Given the description of an element on the screen output the (x, y) to click on. 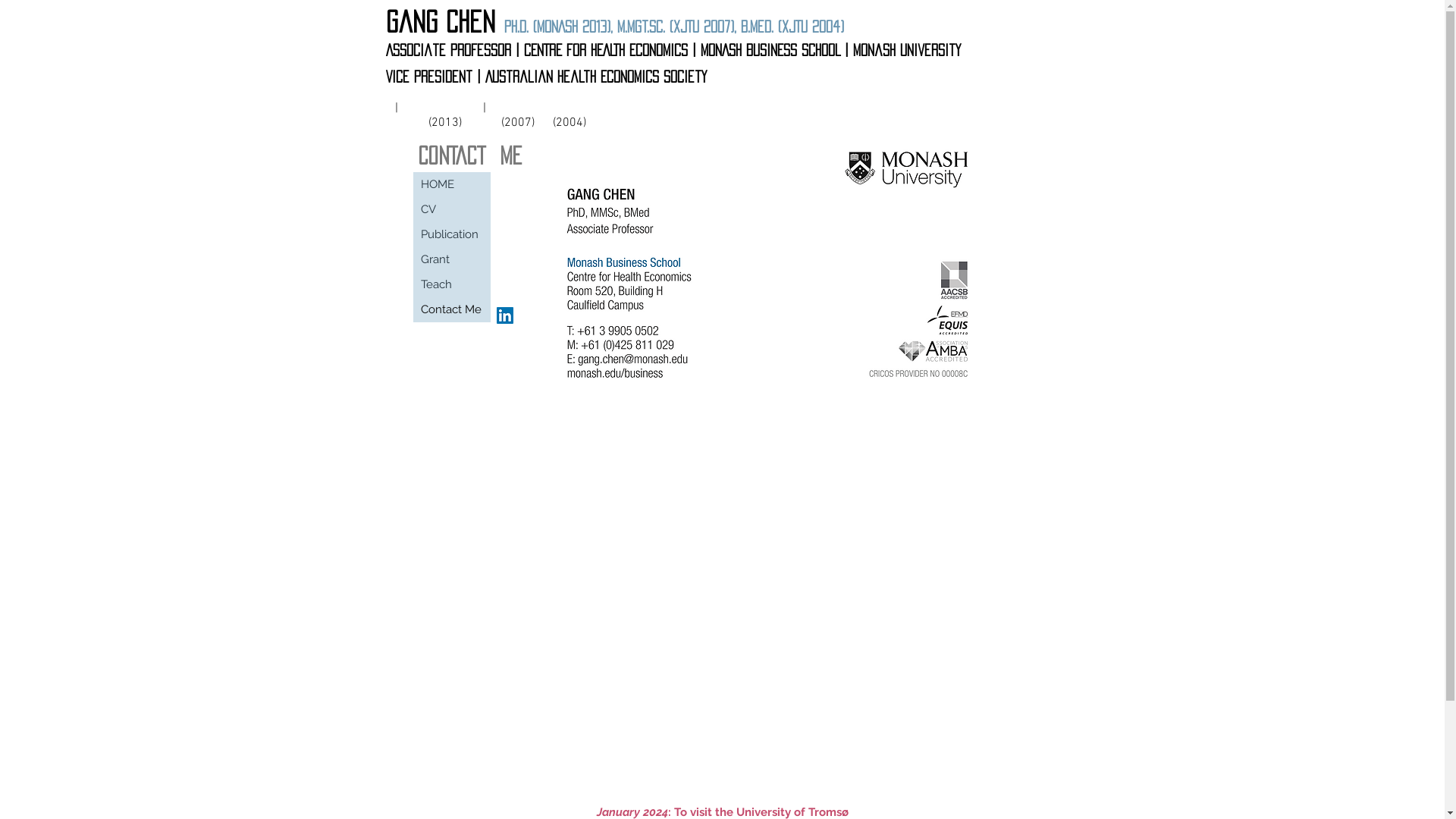
Contact Me Element type: text (450, 309)
MONASH BUSINESS SCHOOL Element type: text (770, 49)
CENTRE FOR HEALTH ECONOMICS Element type: text (605, 49)
Google Maps Element type: hover (723, 589)
HOME Element type: text (450, 184)
Grant Element type: text (450, 259)
Teach Element type: text (450, 284)
Australian Health Economics Society Element type: text (596, 76)
Monash University Element type: text (906, 49)
Associate Professor Element type: text (447, 49)
CV Element type: text (450, 209)
